Given the description of an element on the screen output the (x, y) to click on. 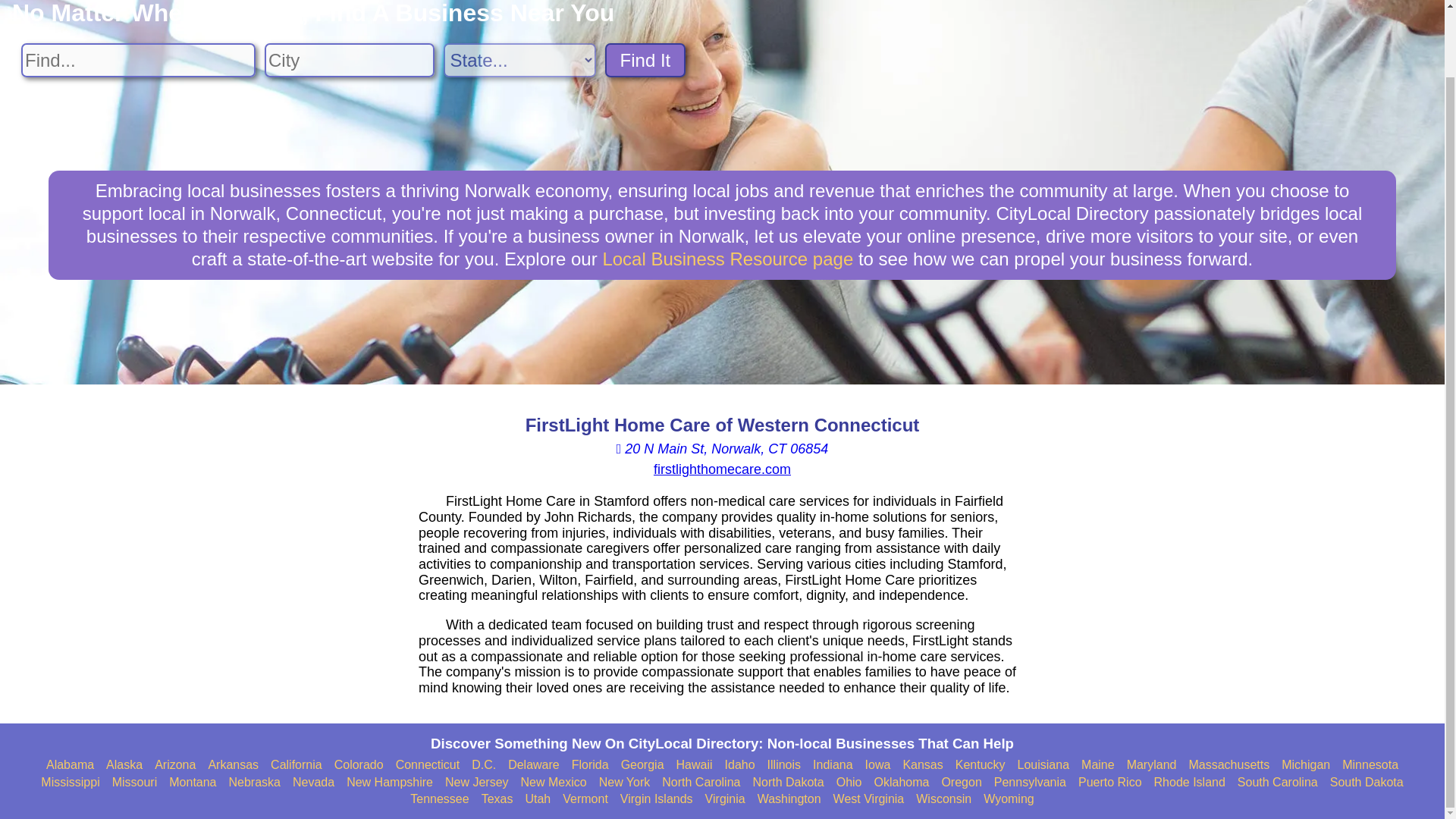
New Hampshire (389, 782)
Georgia (642, 765)
Find Businesses in Alabama (70, 765)
Alabama (70, 765)
View on Google Maps (721, 448)
Delaware (533, 765)
Find Businesses in Colorado (359, 765)
Indiana (832, 765)
Idaho (740, 765)
Find Businesses in D.C. (483, 765)
